Given the description of an element on the screen output the (x, y) to click on. 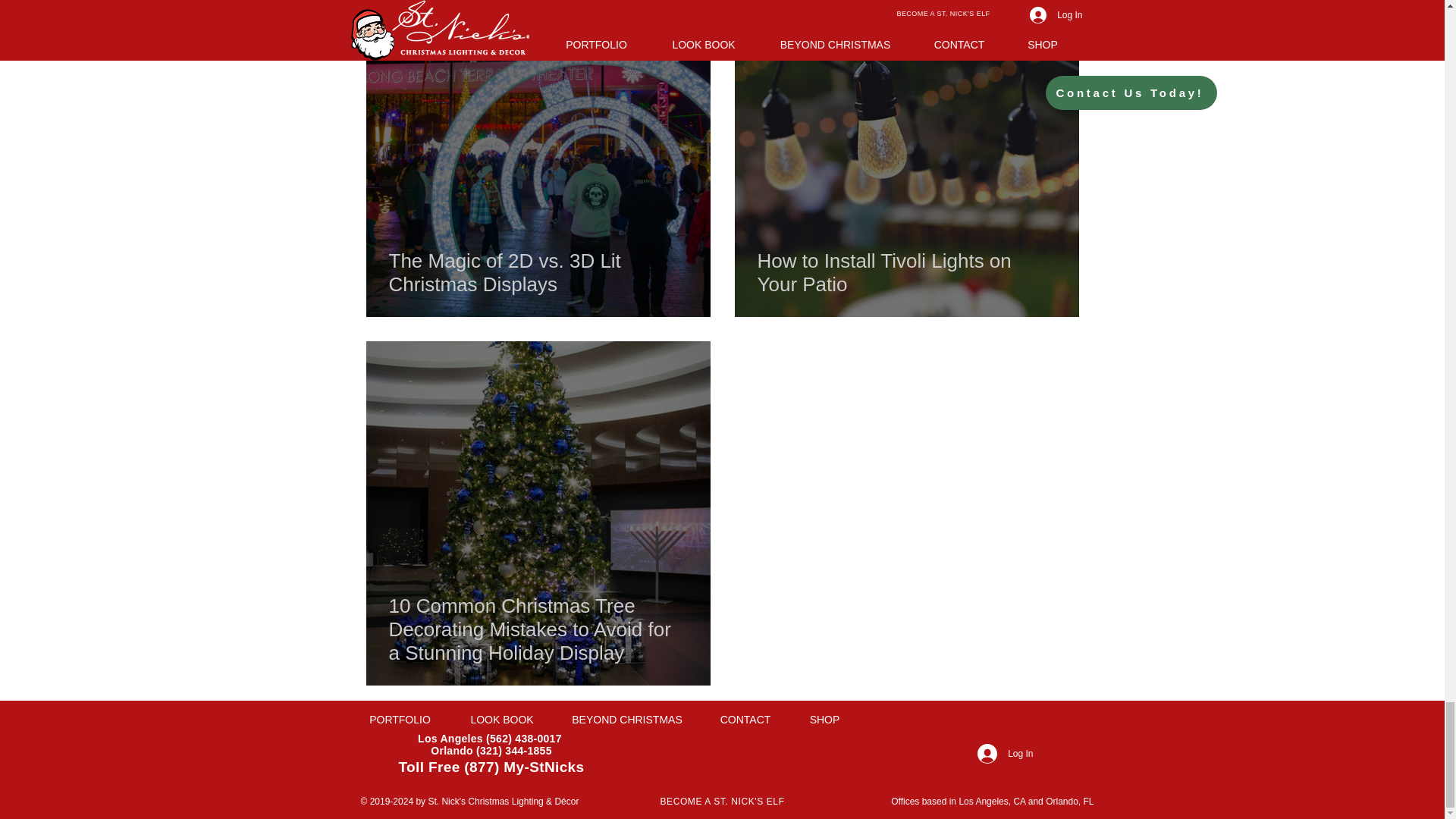
How to Install Tivoli Lights on Your Patio (906, 272)
The Magic of 2D vs. 3D Lit Christmas Displays (537, 272)
BEYOND CHRISTMAS (627, 719)
LOOK BOOK (501, 719)
CONTACT (745, 719)
PORTFOLIO (399, 719)
